Given the description of an element on the screen output the (x, y) to click on. 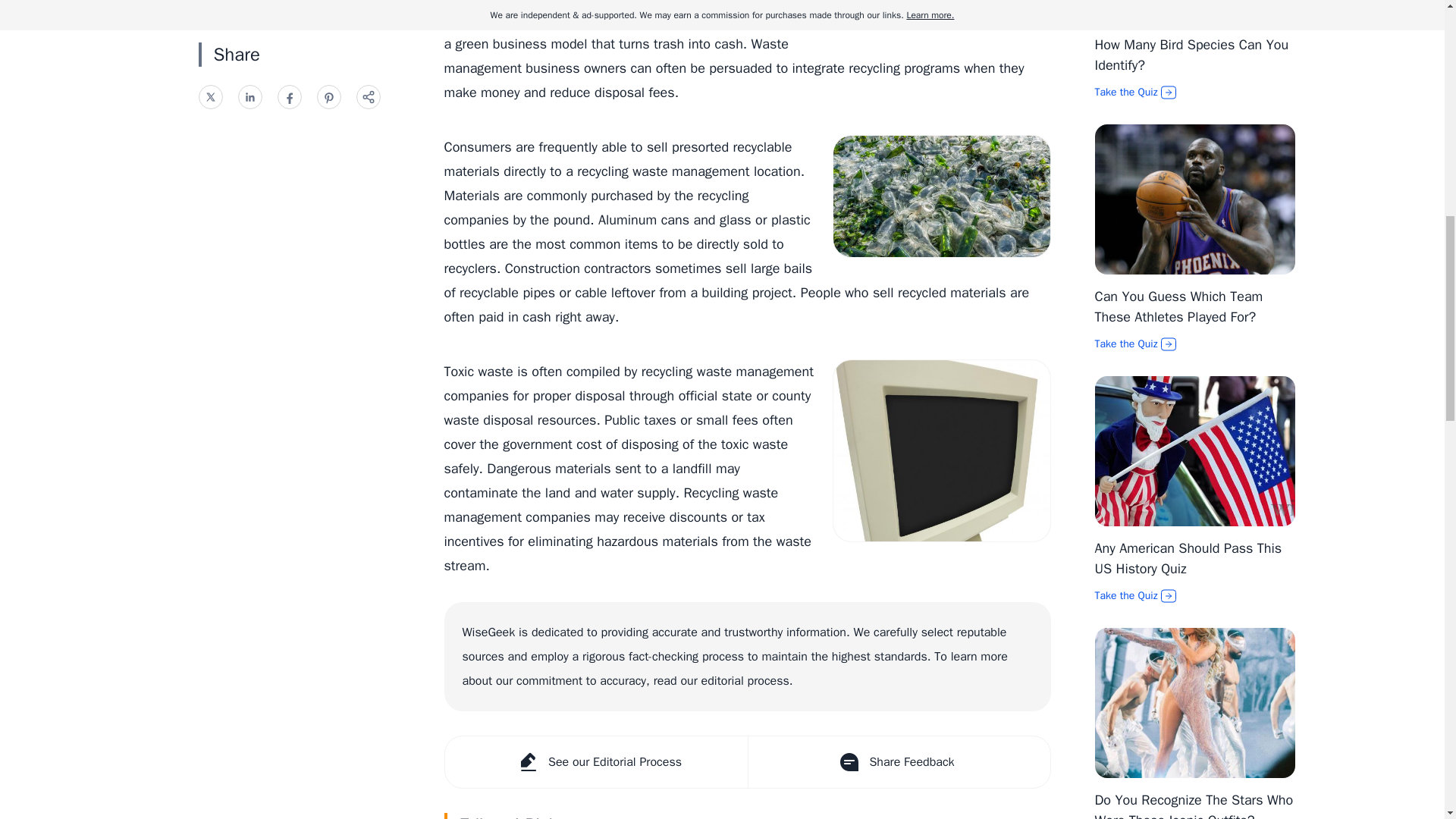
How Many Bird Species Can You Identify? (1191, 54)
Take the Quiz (1194, 344)
See our Editorial Process (595, 761)
Any American Should Pass This US History Quiz (1188, 558)
Take the Quiz (1194, 92)
Share Feedback (898, 761)
Can You Guess Which Team These Athletes Played For? (1178, 306)
